Given the description of an element on the screen output the (x, y) to click on. 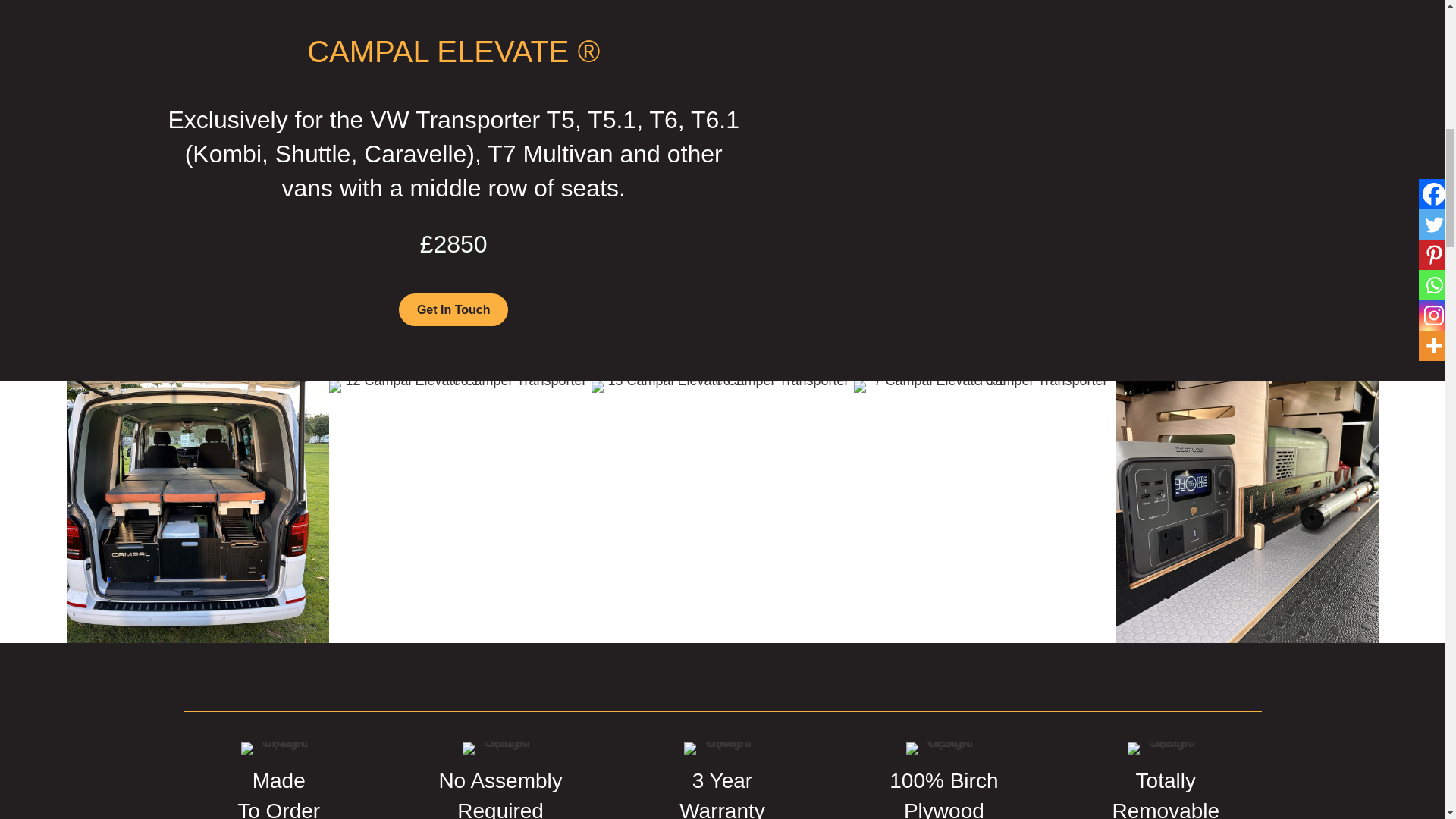
Get In Touch (454, 309)
12 Campal Elevate Camper Transporter T6.1 (460, 386)
15 Campal Elevate Camper Transporter T6.1 (197, 511)
YouTube video player (989, 175)
7 Campal Elevate Camper Transporter T6.1 (984, 386)
13 Campal Elevate Camper Transporter T6.1 (722, 386)
2 Campal Elevate Camper Transporter T6.1 (1247, 511)
